Given the description of an element on the screen output the (x, y) to click on. 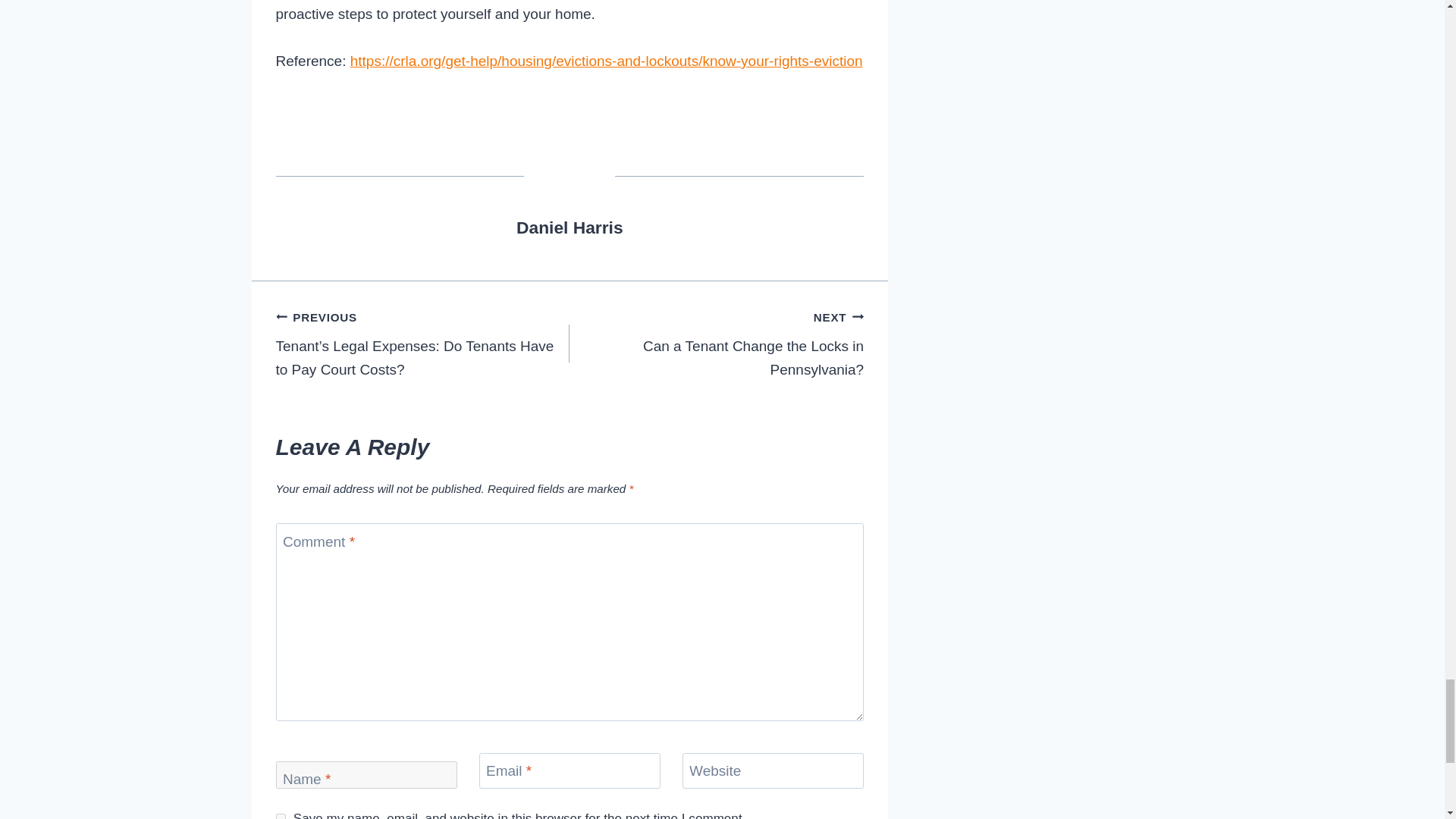
yes (280, 816)
Posts by Daniel Harris (569, 227)
